Given the description of an element on the screen output the (x, y) to click on. 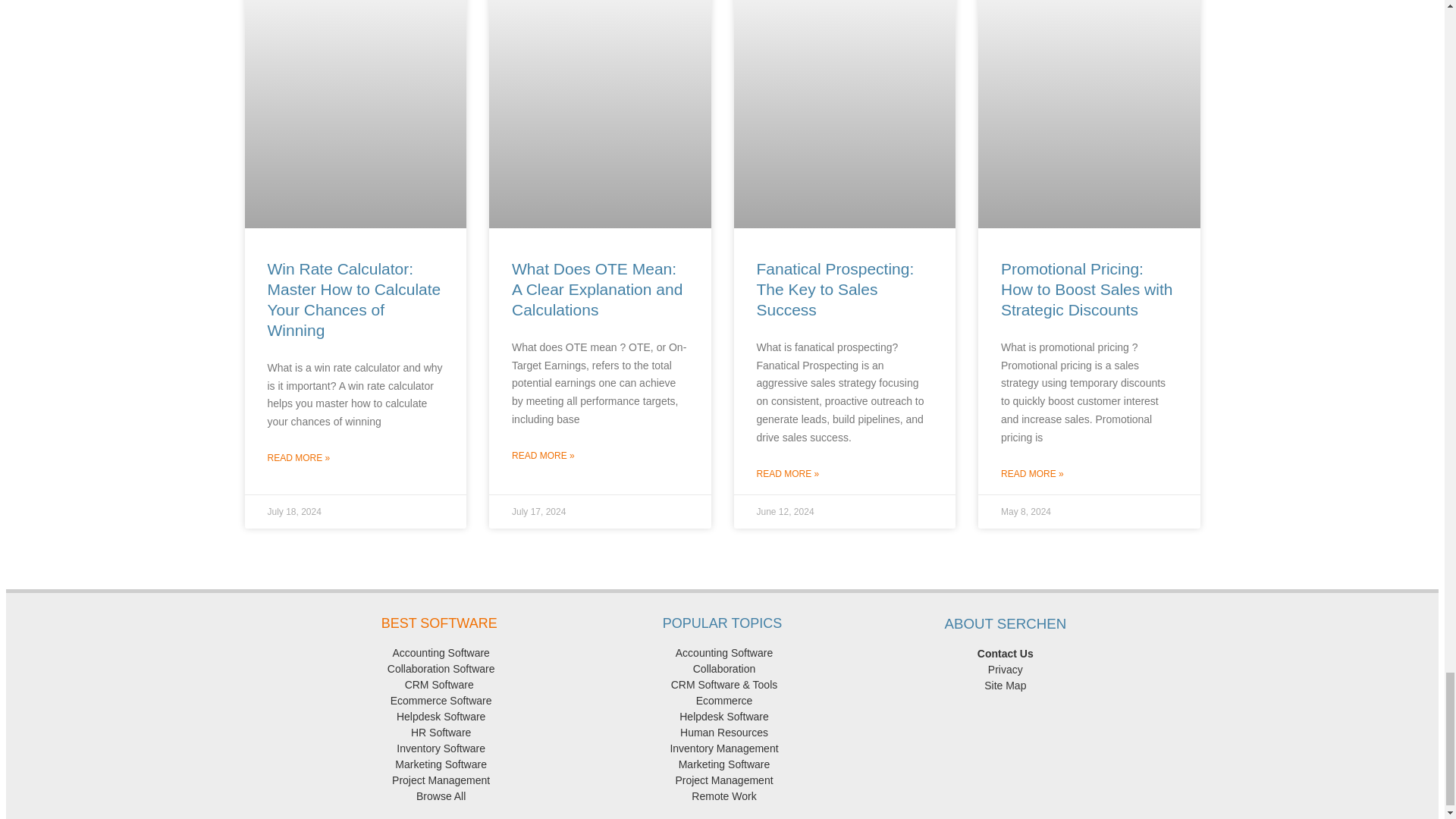
Fanatical Prospecting: The Key to Sales Success (835, 289)
HR Software (438, 732)
Helpdesk Software (438, 716)
Browse All (438, 796)
Accounting Software (721, 653)
What Does OTE Mean: A Clear Explanation and Calculations (597, 289)
Ecommerce Software (438, 700)
Project Management (438, 779)
Accounting Software (438, 653)
BEST SOFTWARE (439, 622)
CRM Software (438, 684)
Marketing Software (438, 764)
Collaboration Software (438, 668)
